Given the description of an element on the screen output the (x, y) to click on. 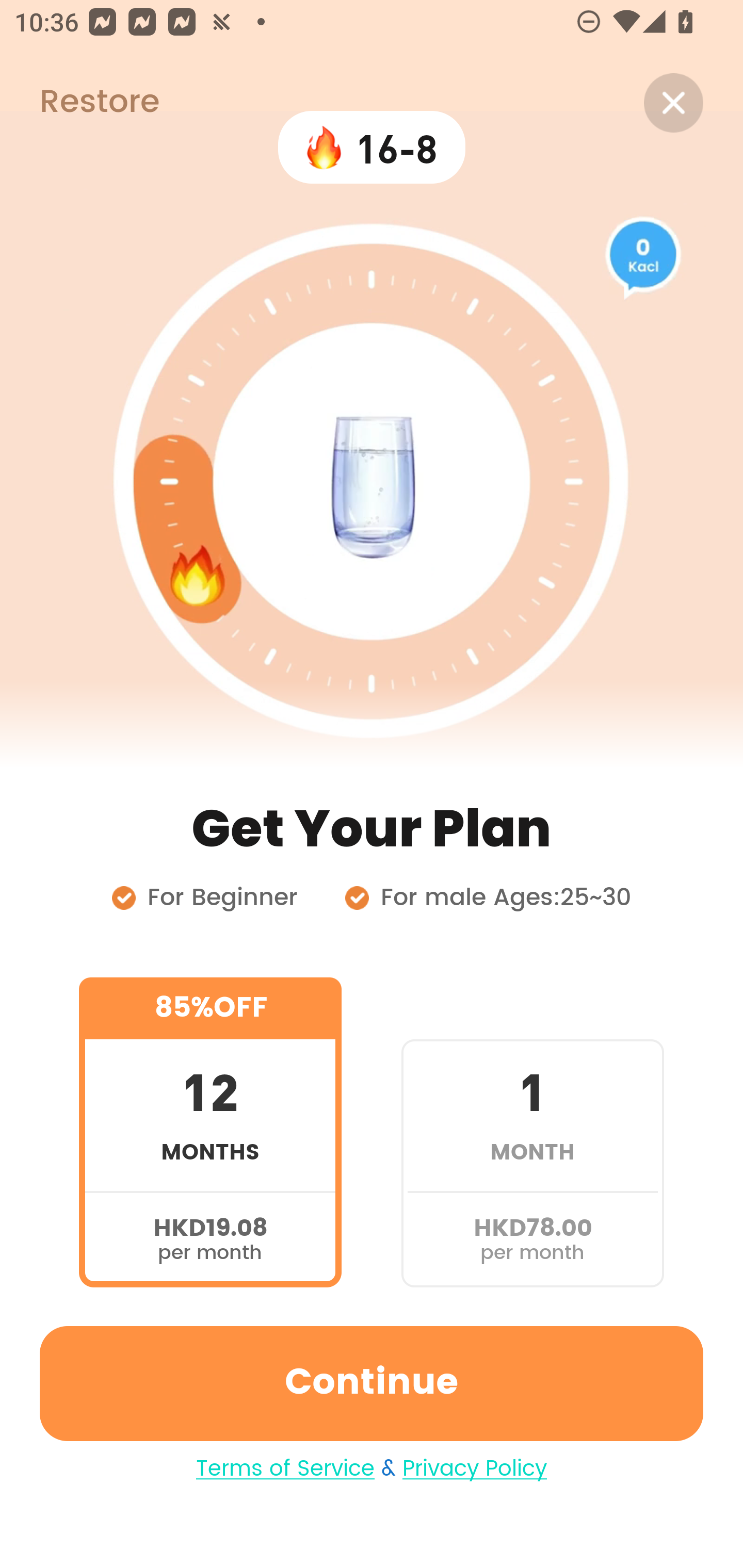
Restore (79, 102)
85%OFF 12 MONTHS per month HKD19.08 (209, 1131)
1 MONTH per month HKD78.00 (532, 1131)
Continue (371, 1383)
